Given the description of an element on the screen output the (x, y) to click on. 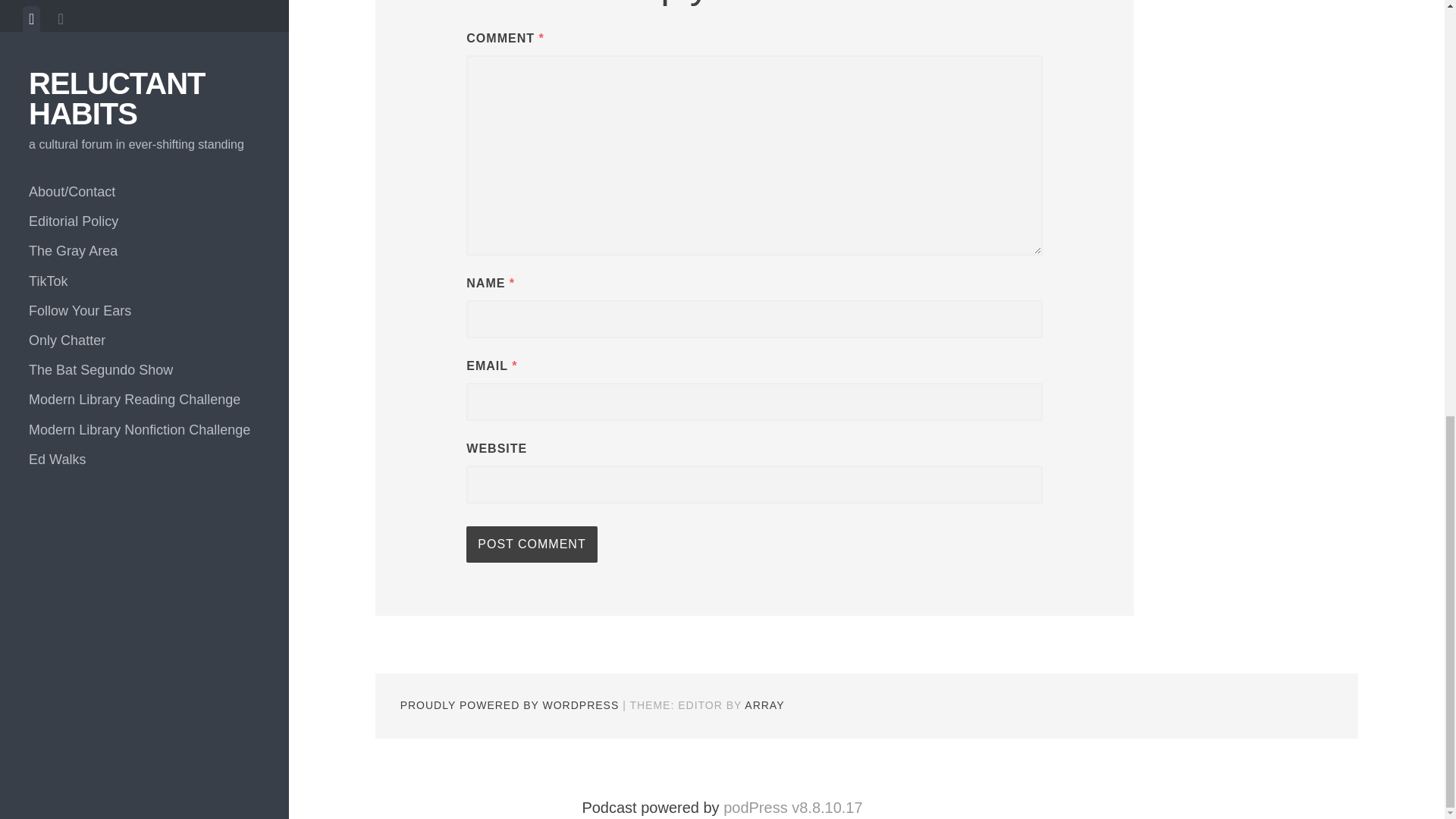
podPress, a plugin for podcasting with WordPress (792, 807)
Post Comment (530, 544)
